Given the description of an element on the screen output the (x, y) to click on. 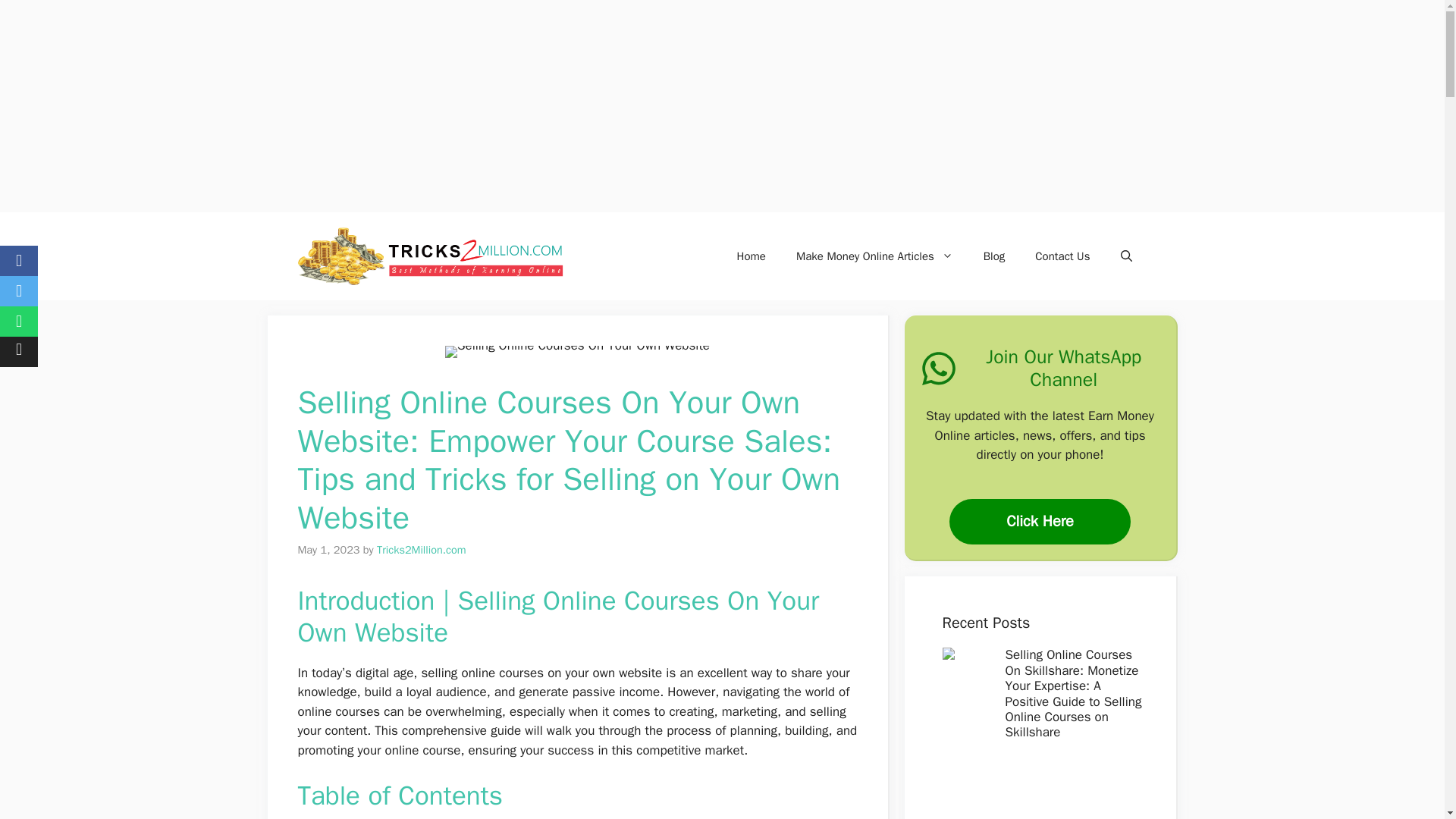
Tricks2Million.com (421, 549)
View all posts by Tricks2Million.com (421, 549)
Home (751, 256)
Advertisement (1037, 793)
Blog (994, 256)
Make Money Online Articles (874, 256)
Contact Us (1062, 256)
